Given the description of an element on the screen output the (x, y) to click on. 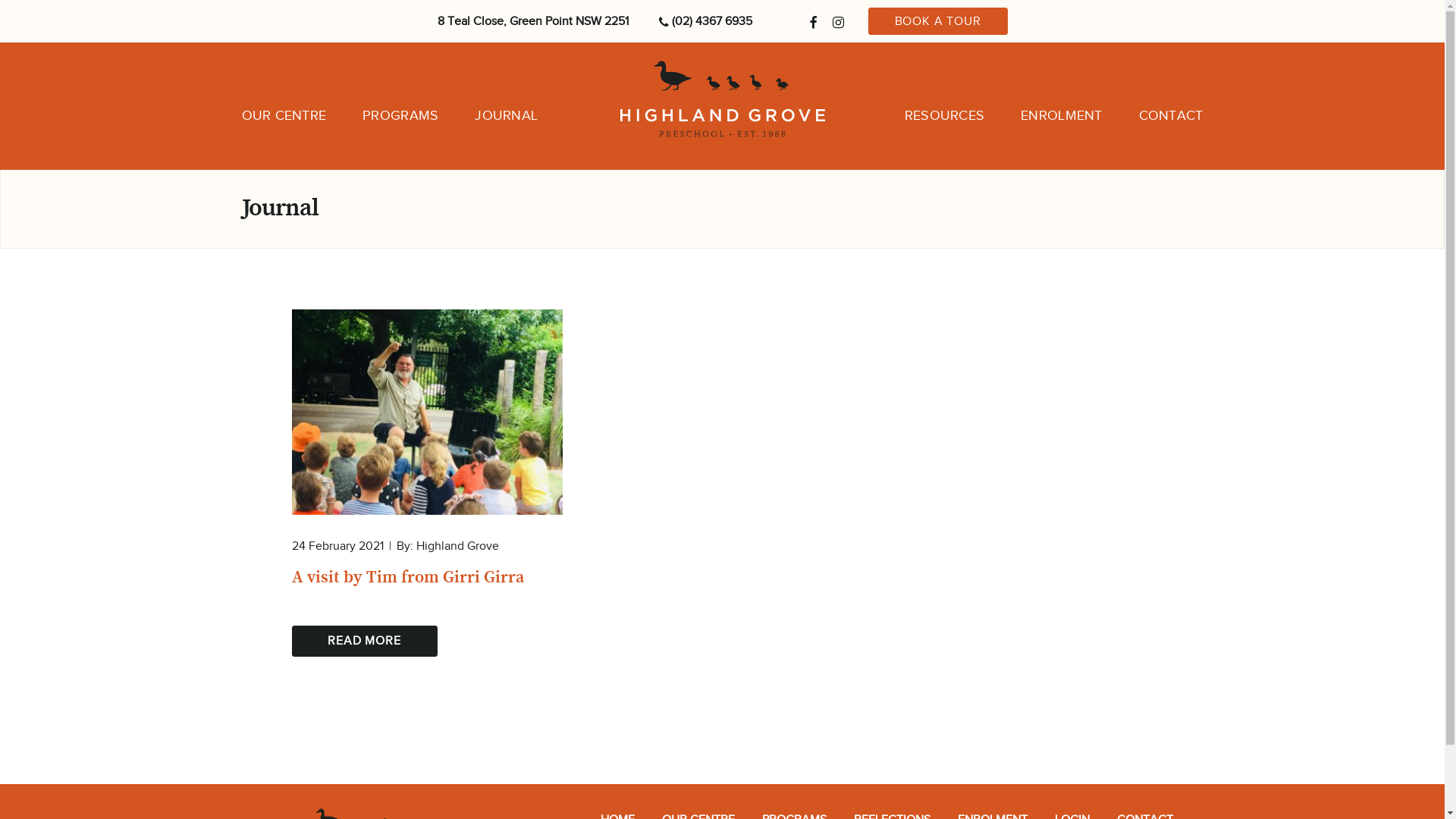
CONTACT Element type: text (1171, 115)
PROGRAMS Element type: text (400, 115)
RESOURCES Element type: text (944, 115)
OUR CENTRE Element type: text (283, 115)
BOOK A TOUR Element type: text (937, 20)
A visit by Tim from Girri Girra Element type: text (426, 576)
(02) 4367 6935 Element type: text (704, 21)
ENROLMENT Element type: text (1060, 115)
JOURNAL Element type: text (505, 115)
READ MORE Element type: text (363, 640)
8 Teal Close, Green Point NSW 2251 Element type: text (531, 21)
